Given the description of an element on the screen output the (x, y) to click on. 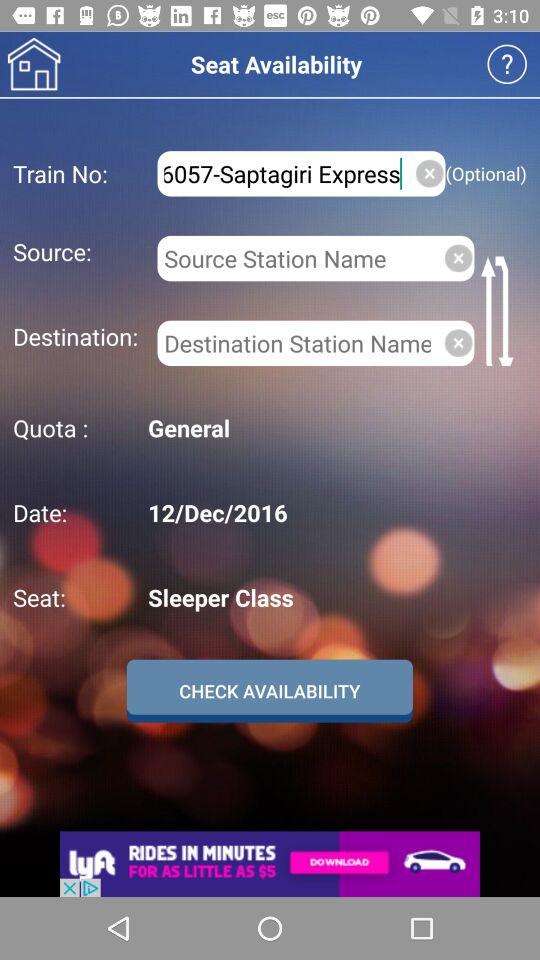
delete destination entered (458, 342)
